Given the description of an element on the screen output the (x, y) to click on. 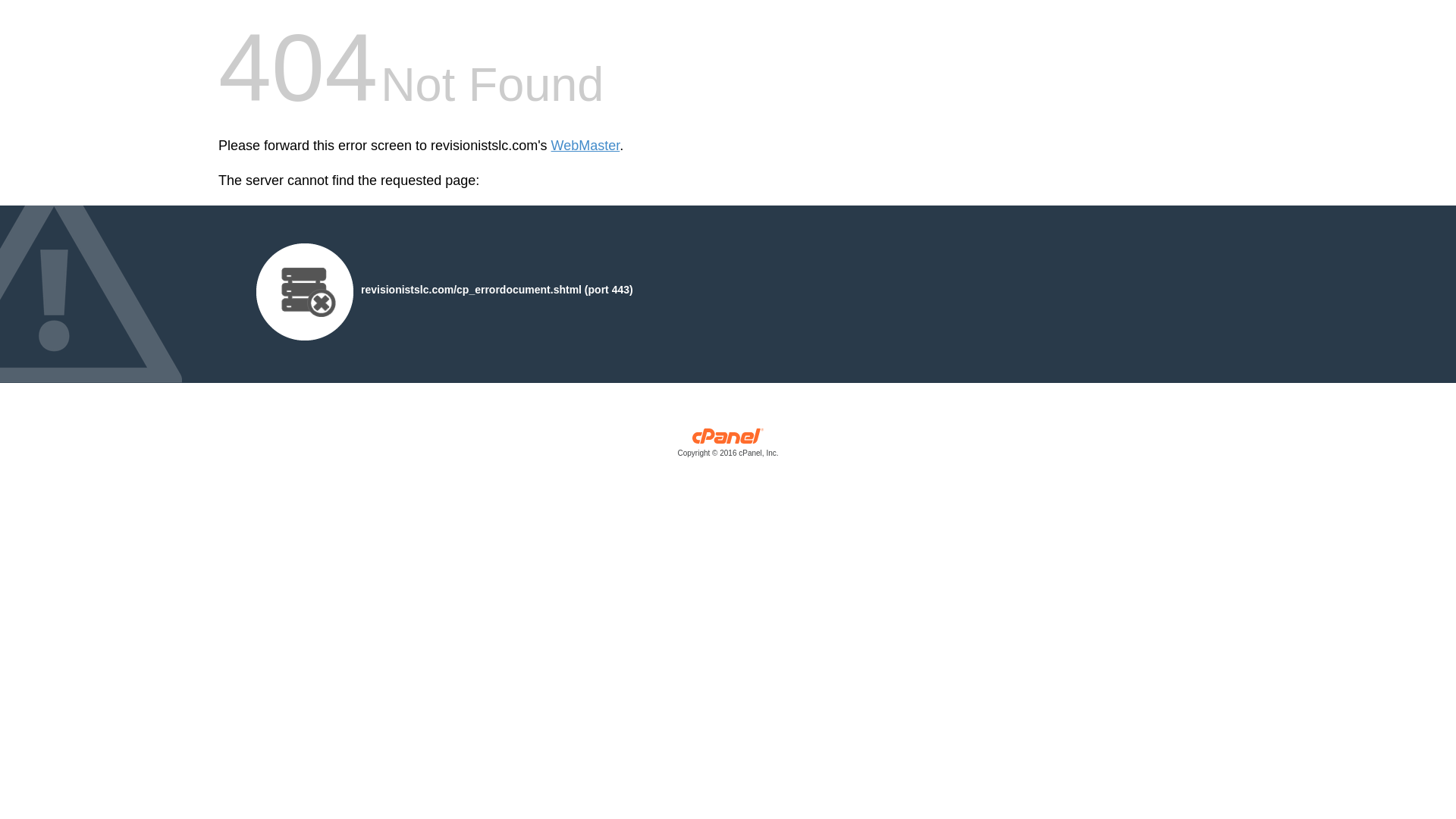
cPanel, Inc. (727, 446)
WebMaster (585, 145)
